Given the description of an element on the screen output the (x, y) to click on. 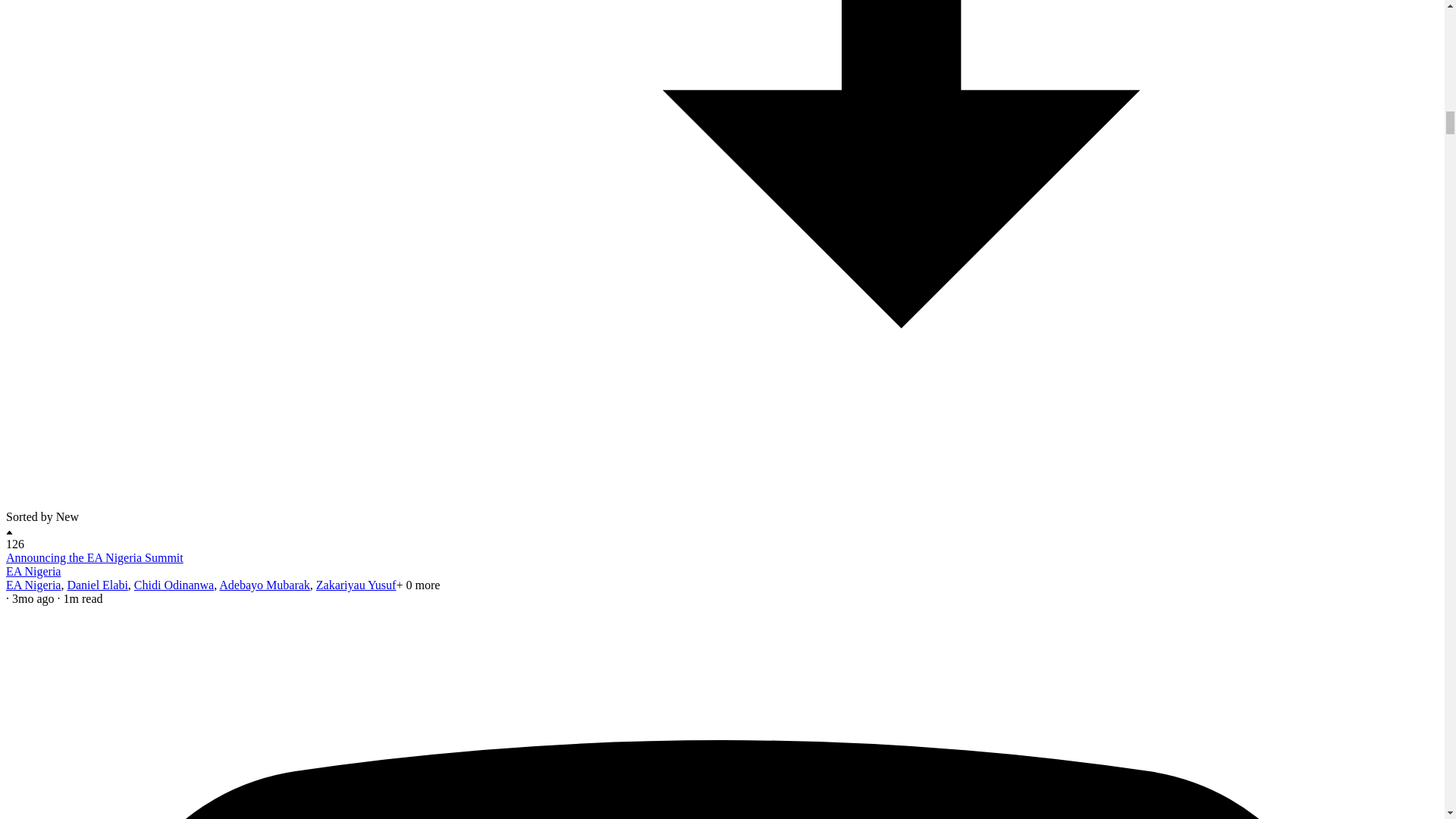
Announcing the EA Nigeria Summit (94, 557)
Zakariyau Yusuf (355, 584)
Adebayo Mubarak (264, 584)
EA Nigeria (33, 571)
Chidi Odinanwa (173, 584)
EA Nigeria (33, 584)
Daniel Elabi (97, 584)
